Given the description of an element on the screen output the (x, y) to click on. 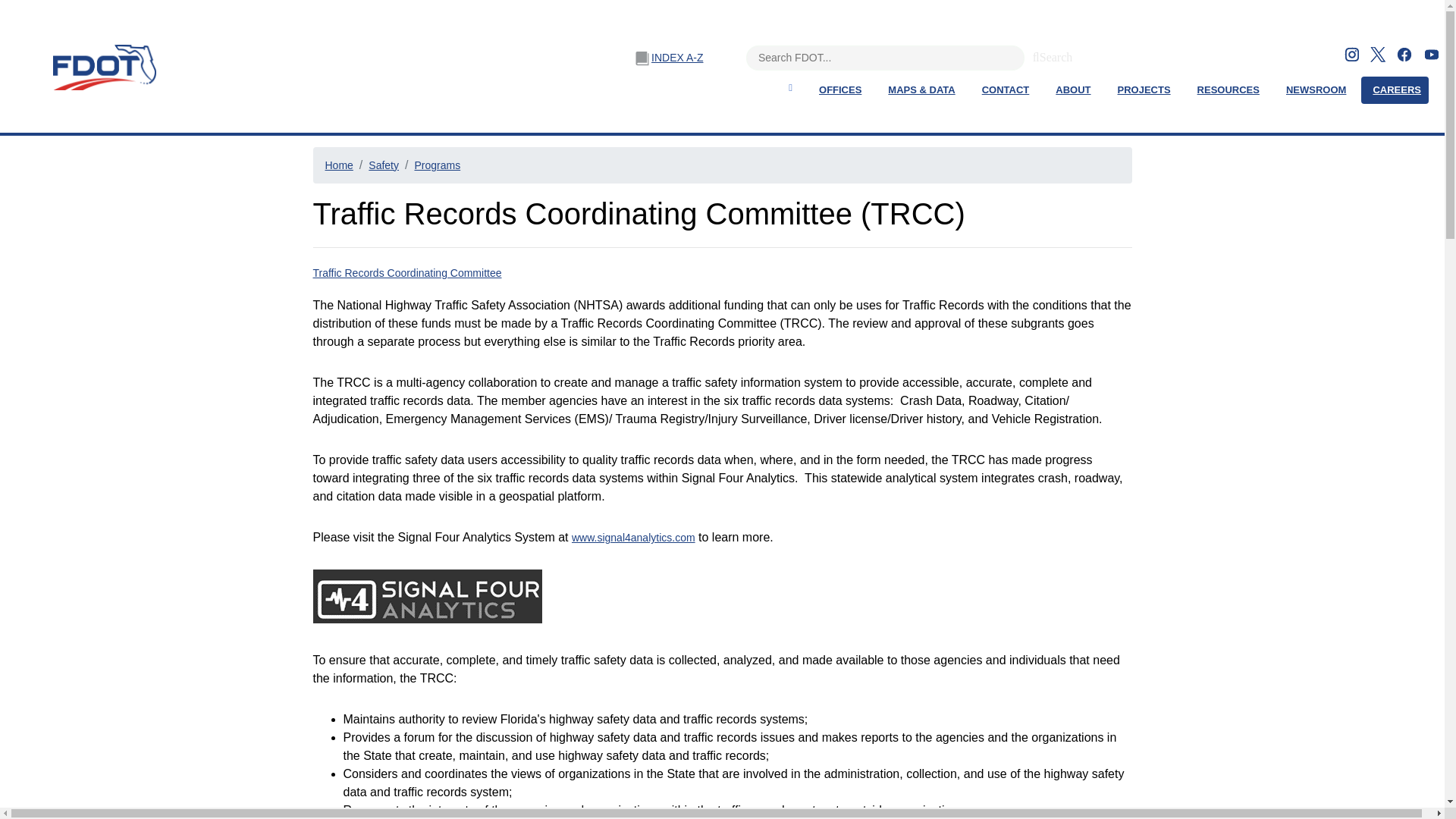
CONTACT (1005, 90)
Instgram Icon (1351, 54)
Florida Department of Transportation Home Page (100, 67)
X icon (1378, 54)
Search (1035, 55)
Programs (436, 164)
youtube icon (1431, 54)
instgram (1351, 53)
ABOUT (1072, 90)
youtube (1431, 53)
Homepage (788, 87)
PROJECTS (1143, 90)
Traffic Records Coordinating Committee (406, 272)
twitter (1378, 53)
CAREERS (1396, 90)
